Given the description of an element on the screen output the (x, y) to click on. 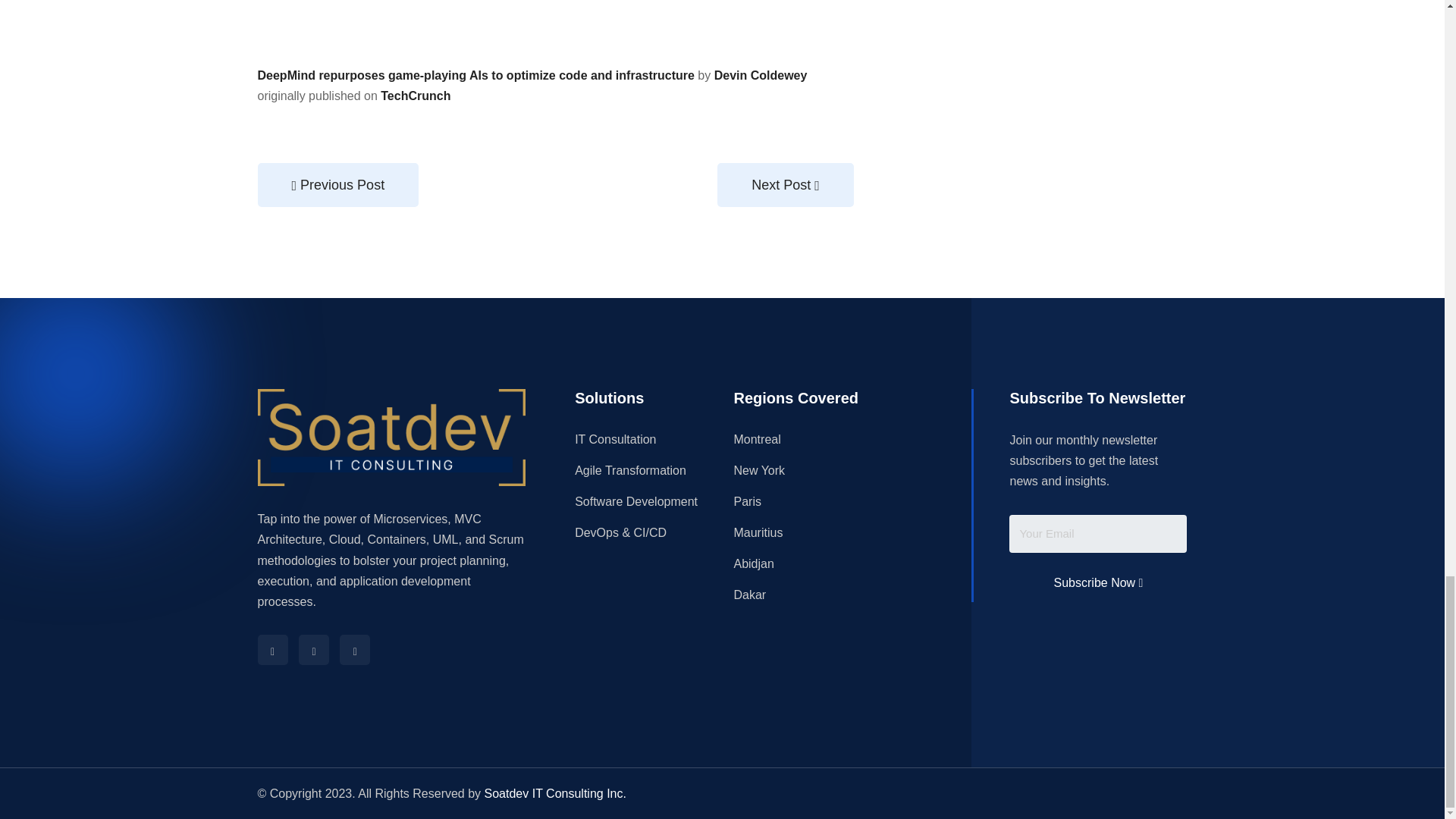
Devin Coldewey (761, 74)
Next Post (785, 184)
TechCrunch (414, 95)
Previous Post (338, 184)
